Given the description of an element on the screen output the (x, y) to click on. 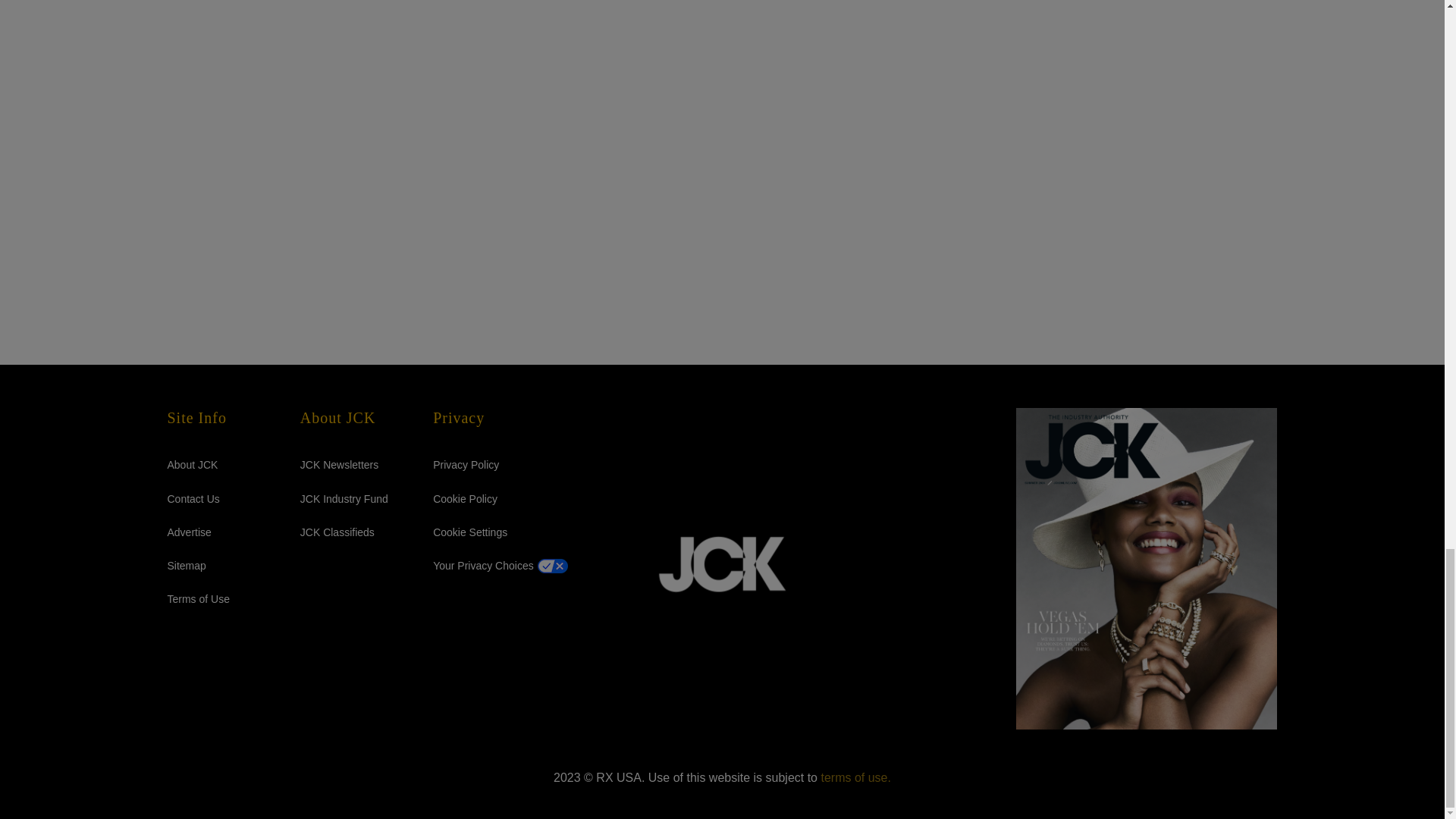
privacy-choices (483, 565)
3rd party ad content (1037, 42)
